Given the description of an element on the screen output the (x, y) to click on. 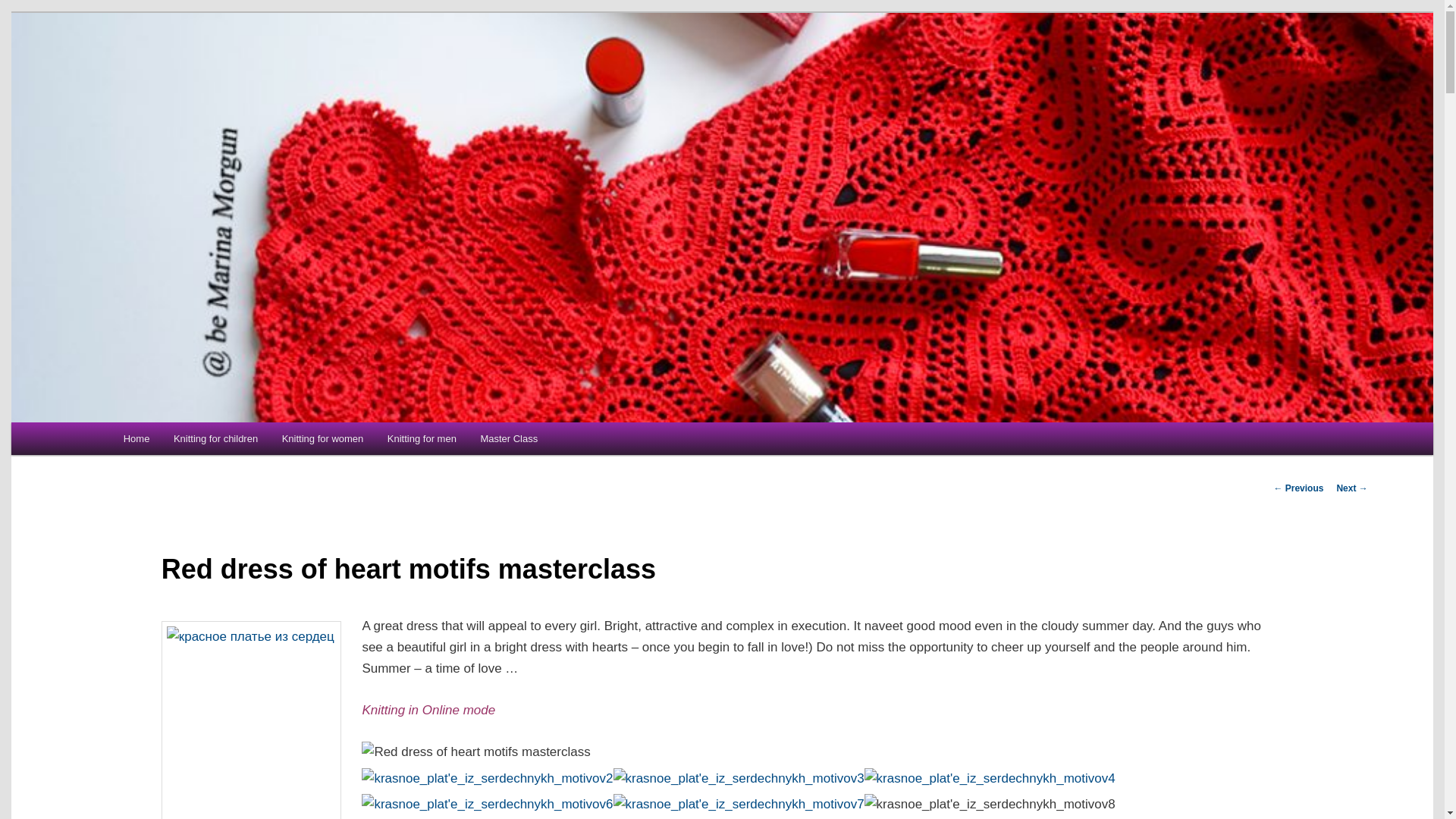
Watch a master class about knitting (509, 438)
Knitting for women (322, 438)
knitted for girls (322, 438)
Home (136, 438)
knitted for man (421, 438)
Knitting for children (215, 438)
Home about knitting (136, 438)
Knitting for men (421, 438)
Skip to primary content (200, 444)
Tie for baby (215, 438)
Master Class (509, 438)
